Given the description of an element on the screen output the (x, y) to click on. 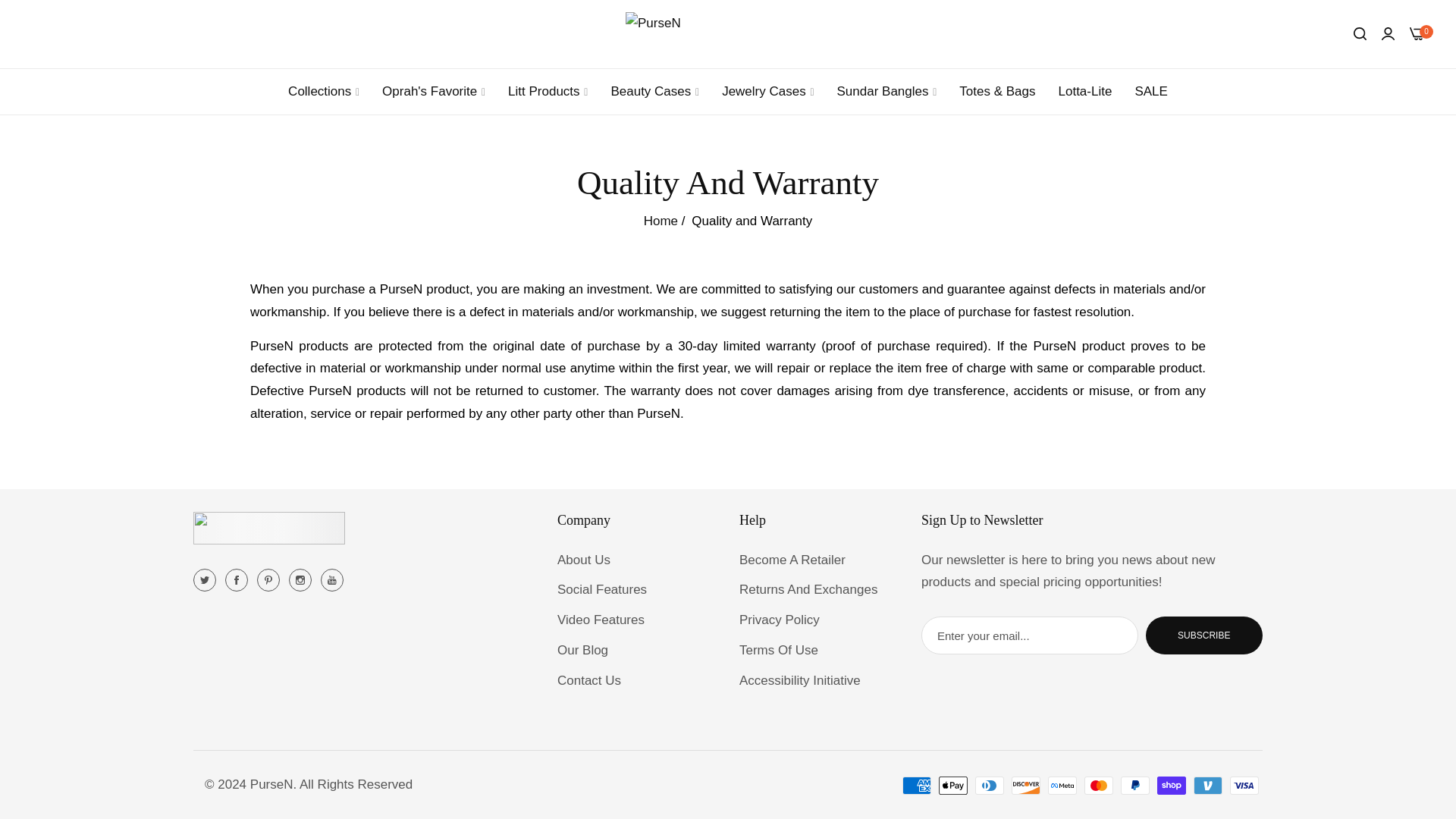
PurseN  (727, 34)
Venmo (1208, 785)
0 (1417, 33)
PayPal (1135, 785)
American Express (916, 785)
Mastercard (1098, 785)
Shop Pay (1171, 785)
Visa (1244, 785)
Discover (1026, 785)
Meta Pay (1062, 785)
Apple Pay (953, 785)
Collections (323, 91)
Diners Club (989, 785)
